Given the description of an element on the screen output the (x, y) to click on. 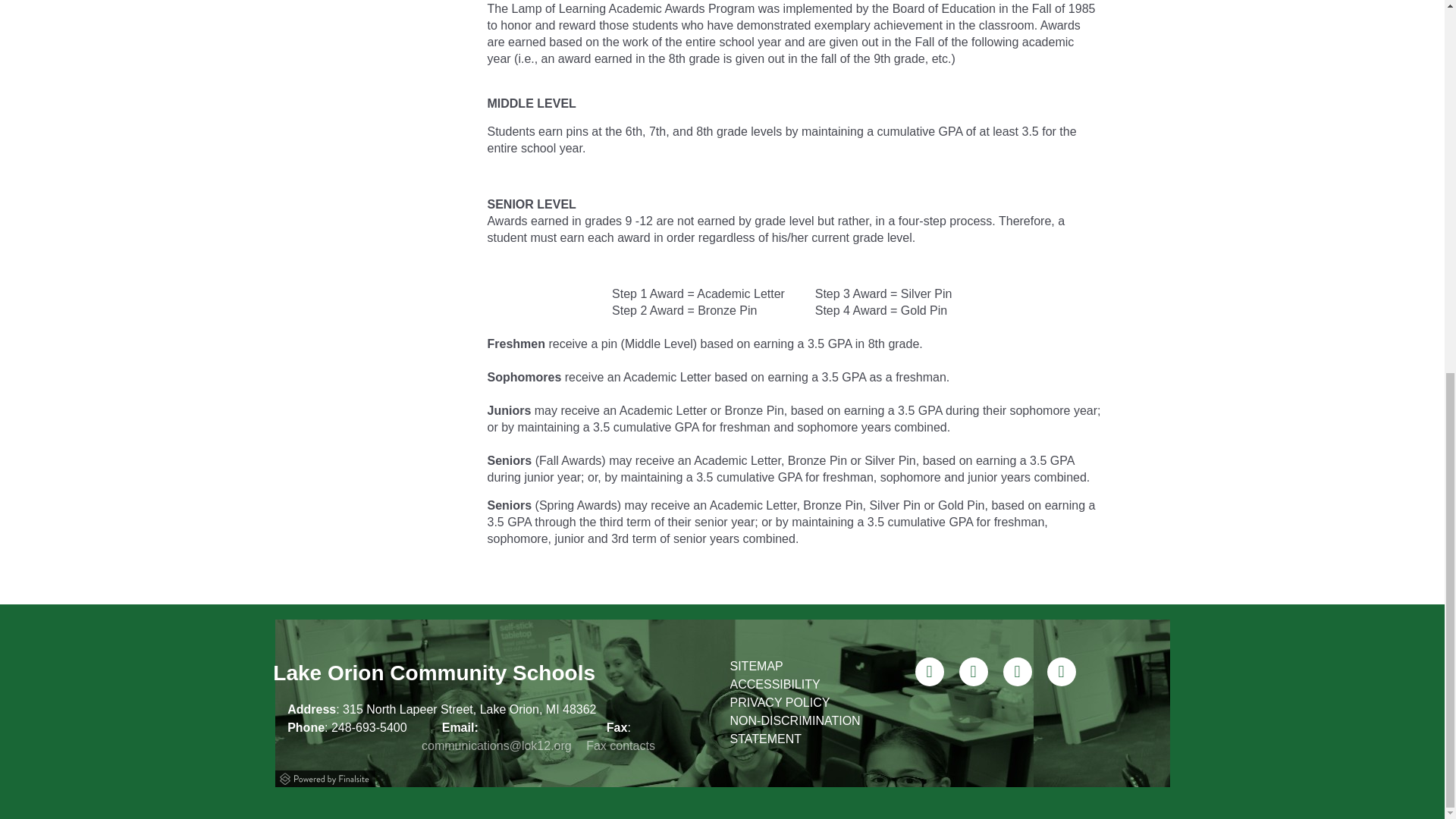
Powered by Finalsite opens in a new window (324, 776)
